Given the description of an element on the screen output the (x, y) to click on. 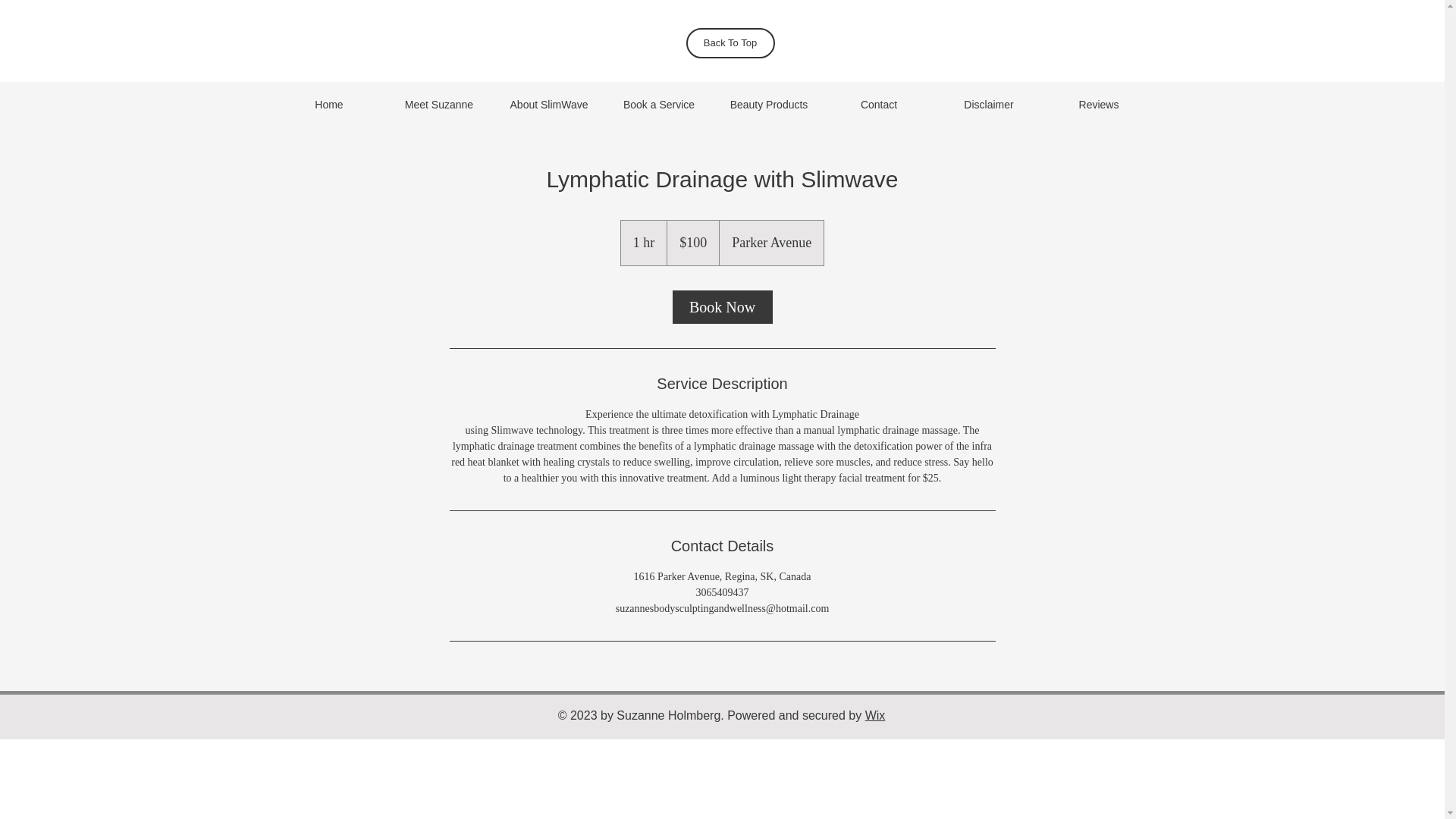
Home (329, 104)
Meet Suzanne (438, 104)
Book Now (721, 306)
Contact (878, 104)
Back To Top (729, 42)
Disclaimer (988, 104)
About SlimWave (549, 104)
Wix (874, 715)
Beauty Products (769, 104)
Book a Service (658, 104)
